Given the description of an element on the screen output the (x, y) to click on. 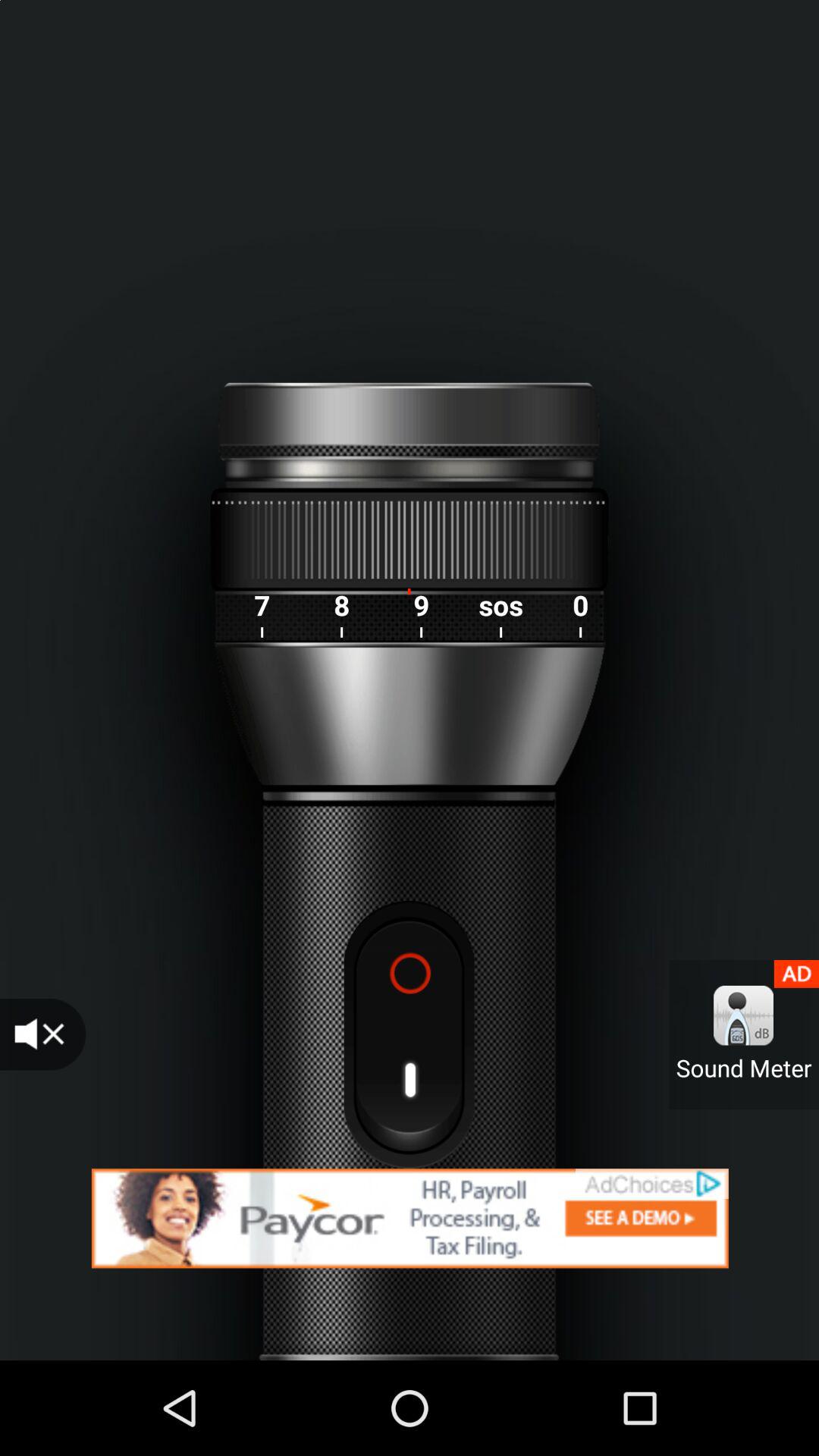
record (408, 1034)
